Given the description of an element on the screen output the (x, y) to click on. 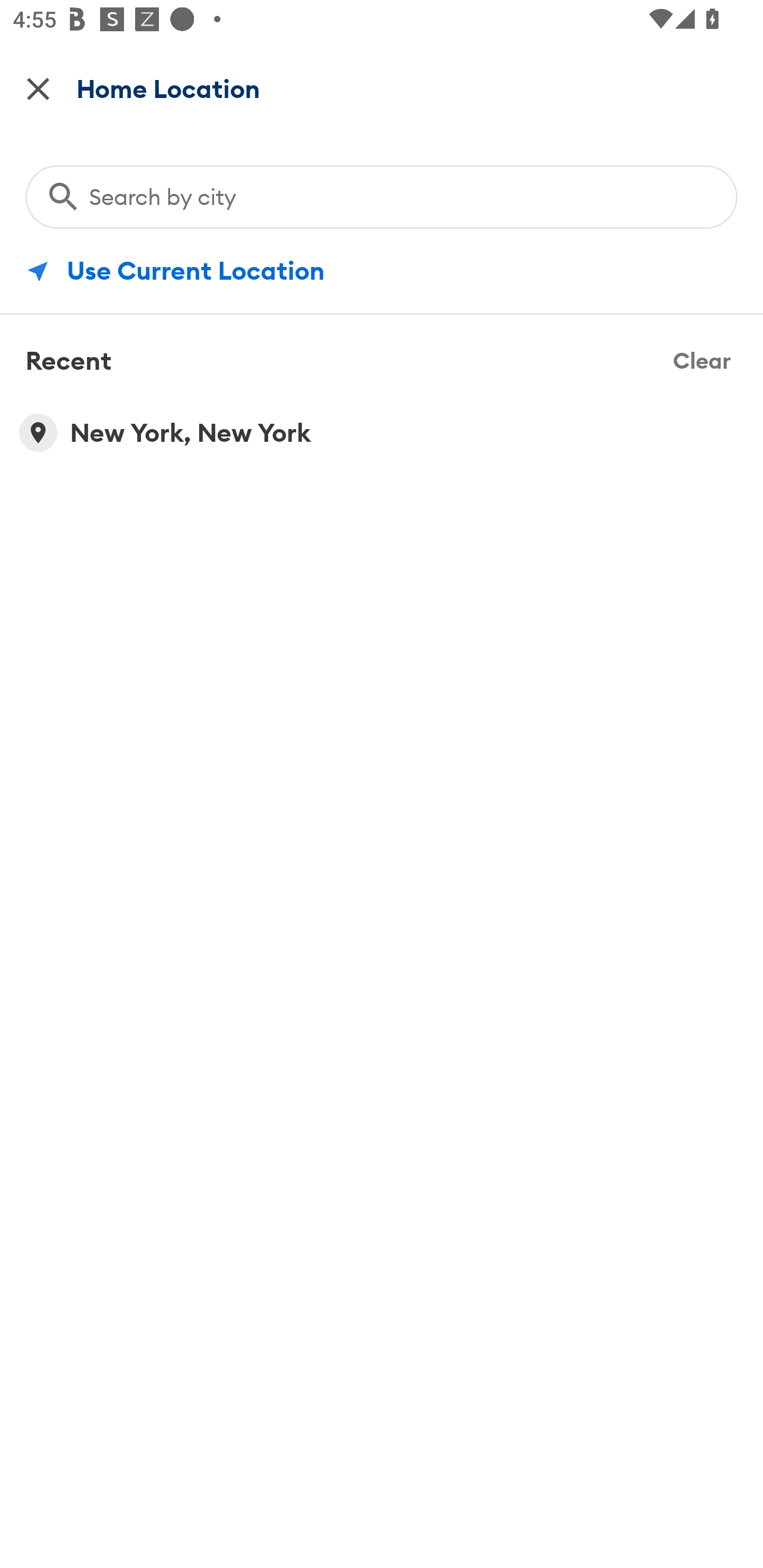
Close (38, 88)
Use Current Location (381, 270)
Clear (701, 359)
New York, New York (381, 432)
